Given the description of an element on the screen output the (x, y) to click on. 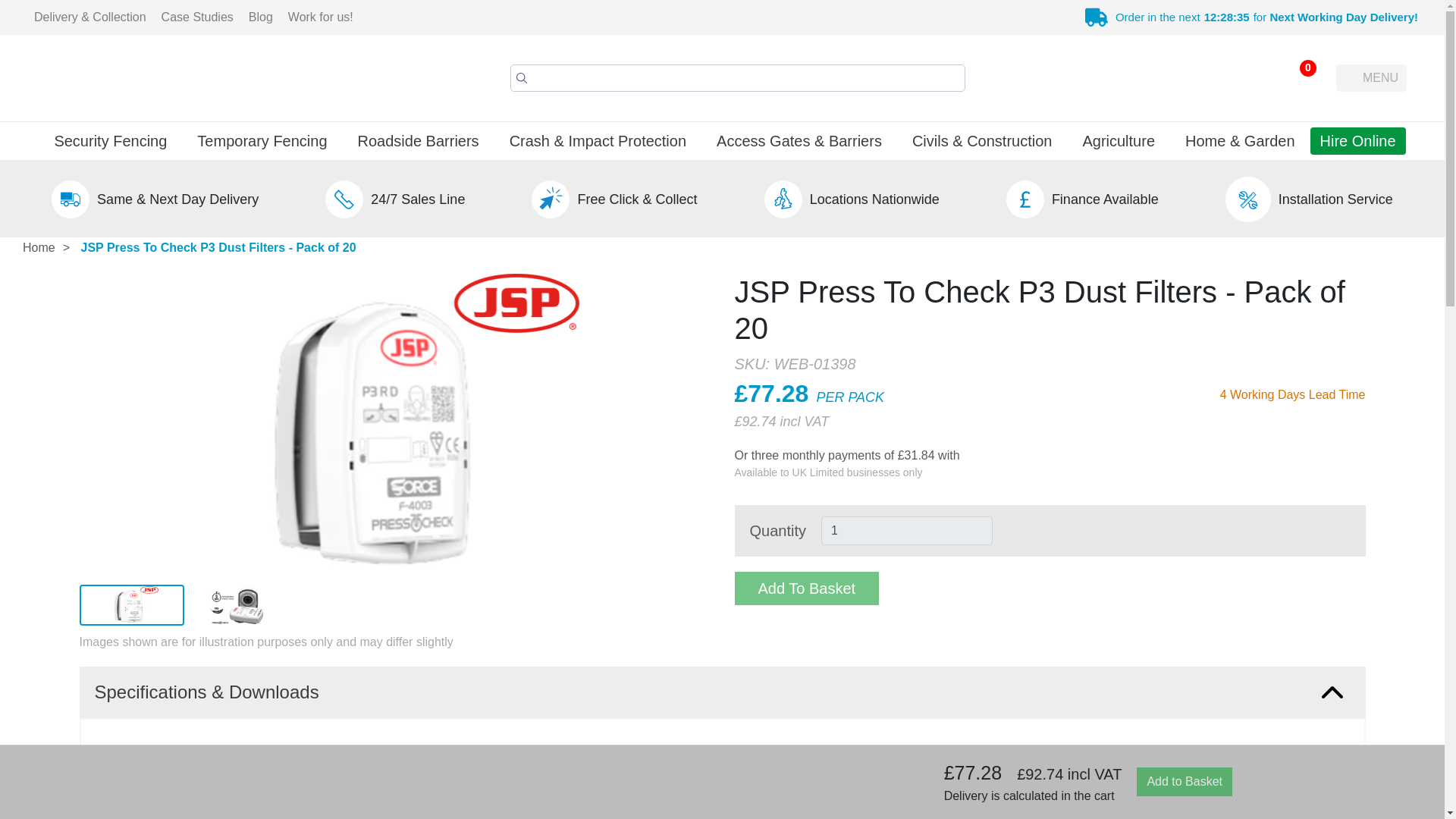
Case Studies (197, 17)
Home (38, 248)
MENU (1371, 77)
0 (1297, 77)
Add To Basket (806, 588)
CONFORMITY (1248, 809)
Locations Nationwide (874, 199)
Add to Basket (1184, 781)
Blog (261, 17)
SPECIFICATION (1248, 767)
